Given the description of an element on the screen output the (x, y) to click on. 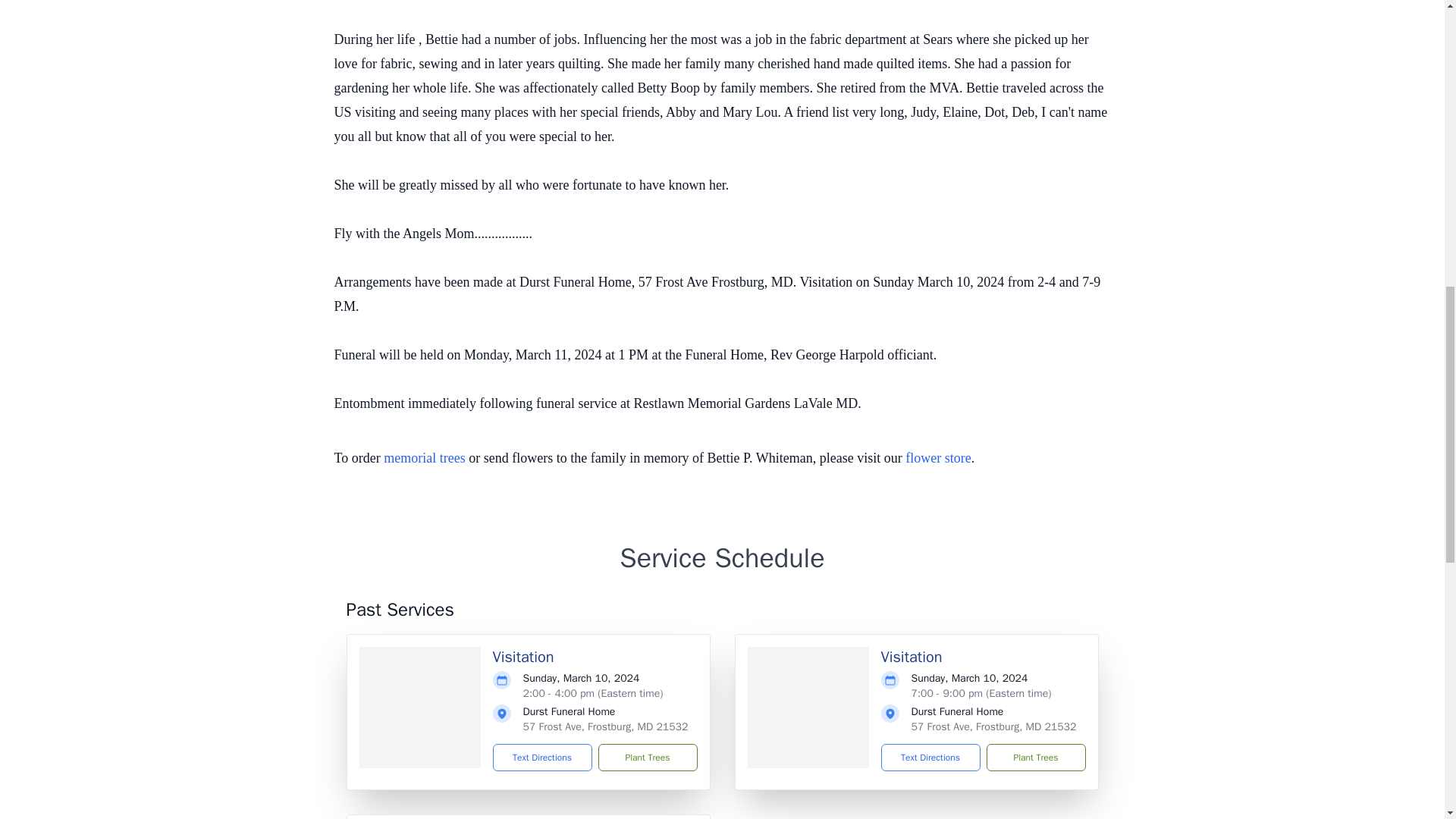
memorial trees (424, 458)
Text Directions (542, 757)
Text Directions (929, 757)
Plant Trees (1034, 757)
57 Frost Ave, Frostburg, MD 21532 (994, 726)
57 Frost Ave, Frostburg, MD 21532 (605, 726)
flower store (938, 458)
Plant Trees (646, 757)
